Given the description of an element on the screen output the (x, y) to click on. 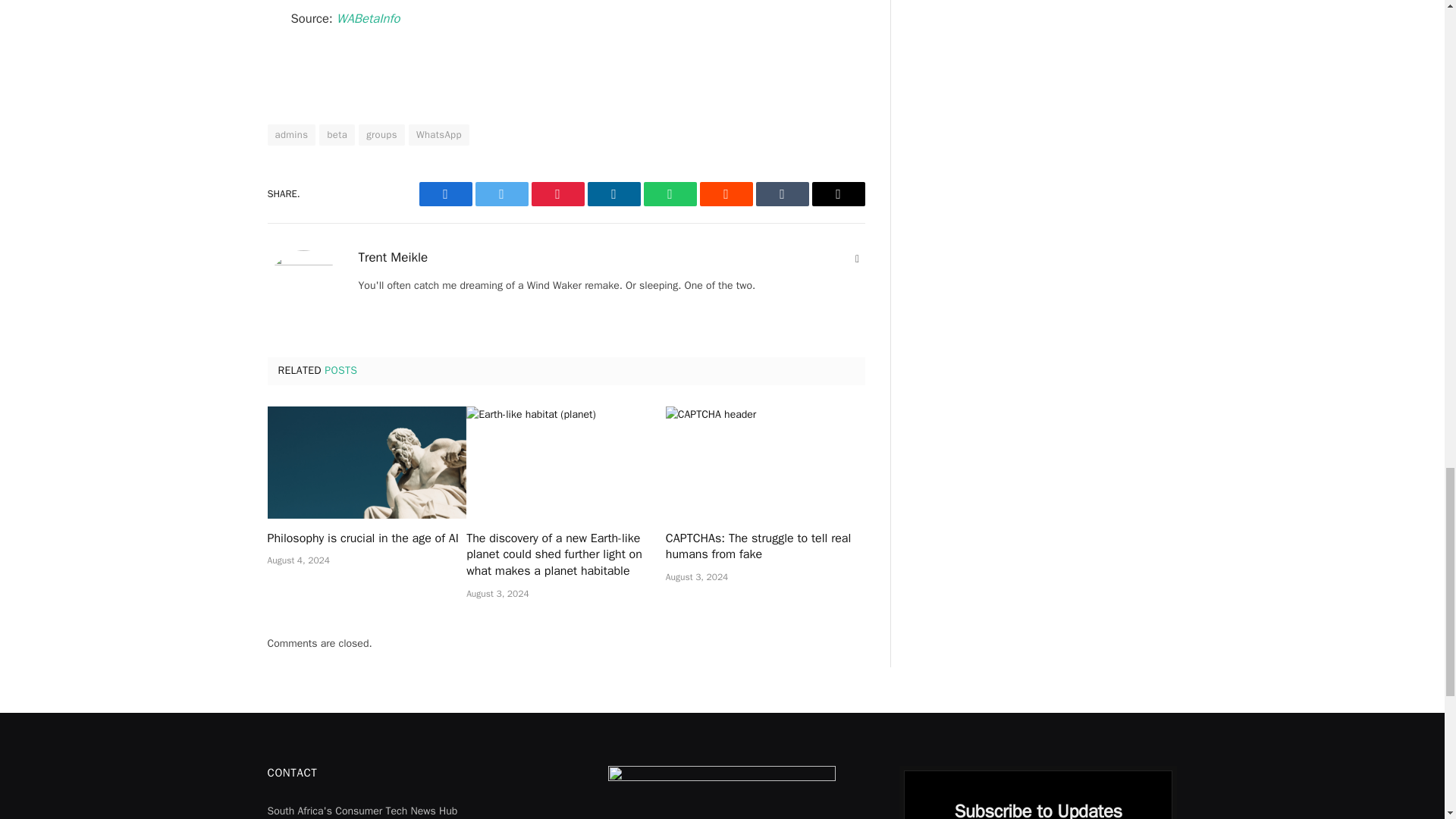
Share on Facebook (445, 193)
